Given the description of an element on the screen output the (x, y) to click on. 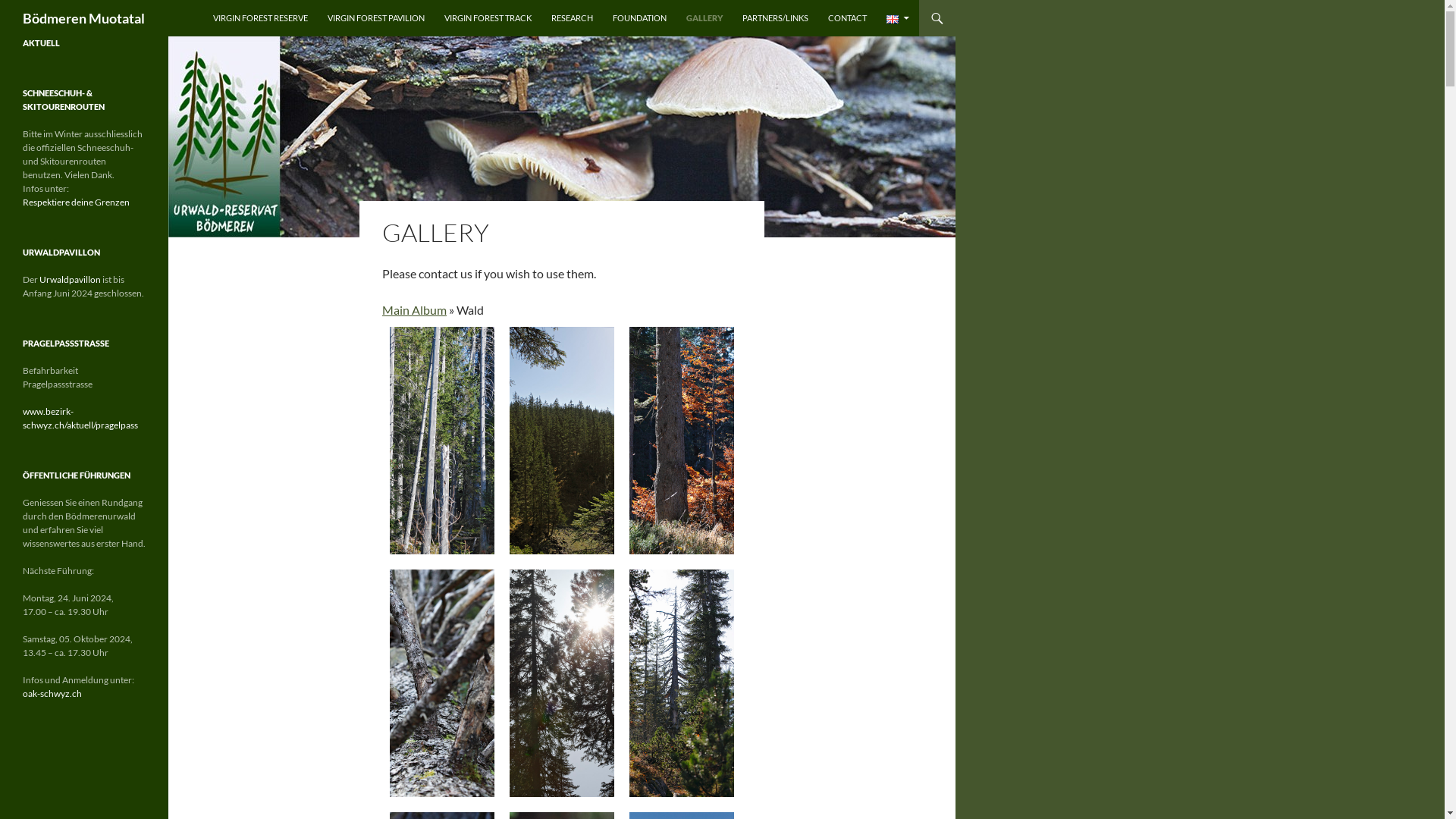
www.bezirk-schwyz.ch/aktuell/pragelpass Element type: text (80, 417)
FOUNDATION Element type: text (639, 18)
PARTNERS/LINKS Element type: text (775, 18)
oak-schwyz.ch Element type: text (51, 693)
VIRGIN FOREST TRACK Element type: text (487, 18)
GALLERY Element type: text (704, 18)
Main Album Element type: text (414, 309)
RESEARCH Element type: text (572, 18)
VIRGIN FOREST PAVILION Element type: text (375, 18)
VIRGIN FOREST RESERVE Element type: text (259, 18)
CONTACT Element type: text (847, 18)
Urwaldpavillon Element type: text (69, 279)
Respektiere deine Grenzen Element type: text (75, 201)
